Given the description of an element on the screen output the (x, y) to click on. 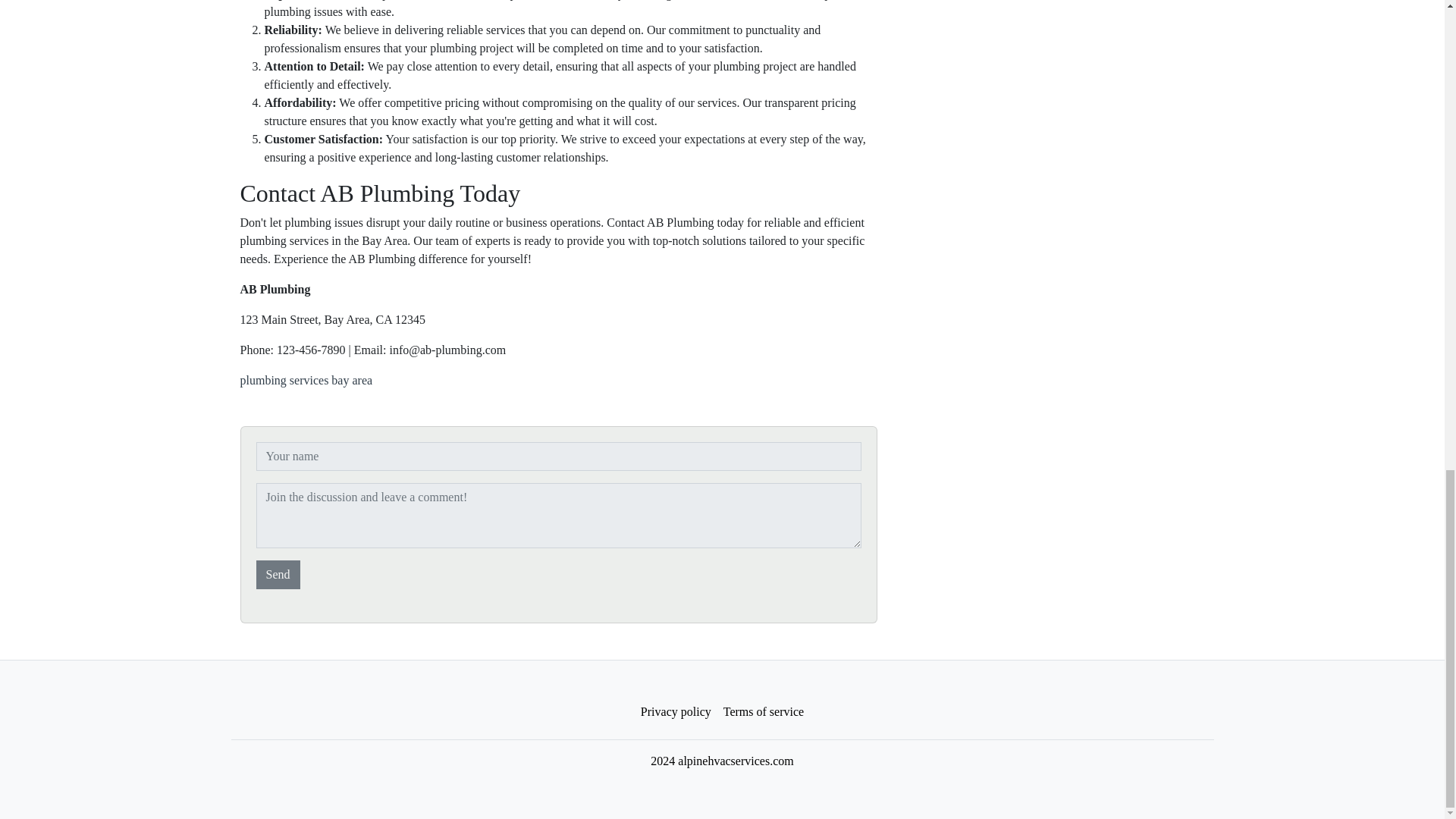
plumbing services bay area (306, 379)
Send (277, 574)
Terms of service (763, 711)
Privacy policy (675, 711)
Send (277, 574)
